Given the description of an element on the screen output the (x, y) to click on. 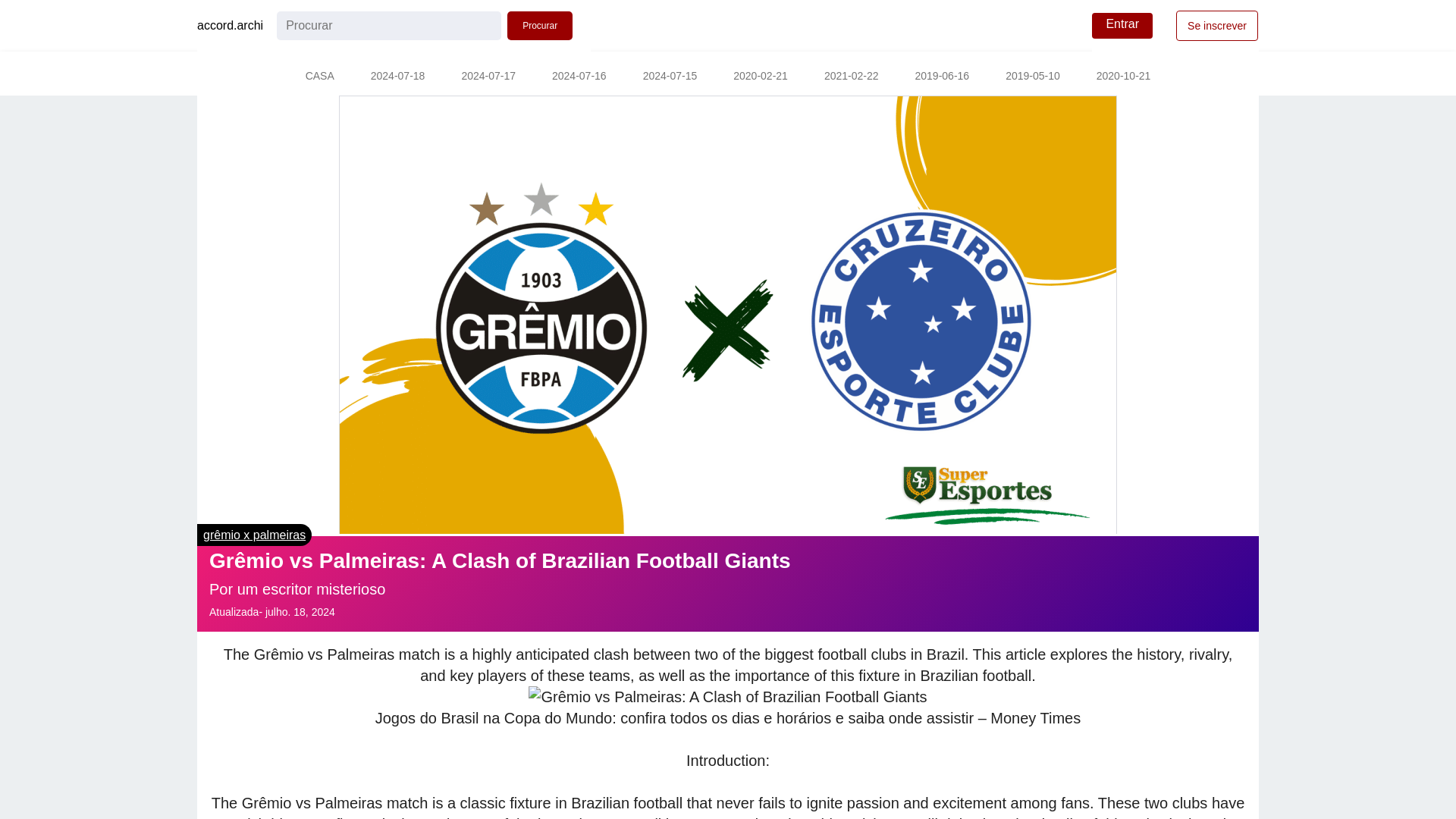
2020-02-21 (760, 76)
accord.archi (229, 25)
2024-07-15 (670, 76)
2019-05-10 (1032, 76)
Procurar (539, 25)
2024-07-17 (488, 76)
Entrar (1122, 25)
2021-02-22 (851, 76)
2024-07-18 (398, 76)
2024-07-16 (579, 76)
2020-10-21 (1123, 76)
2019-06-16 (941, 76)
CASA (319, 76)
